Given the description of an element on the screen output the (x, y) to click on. 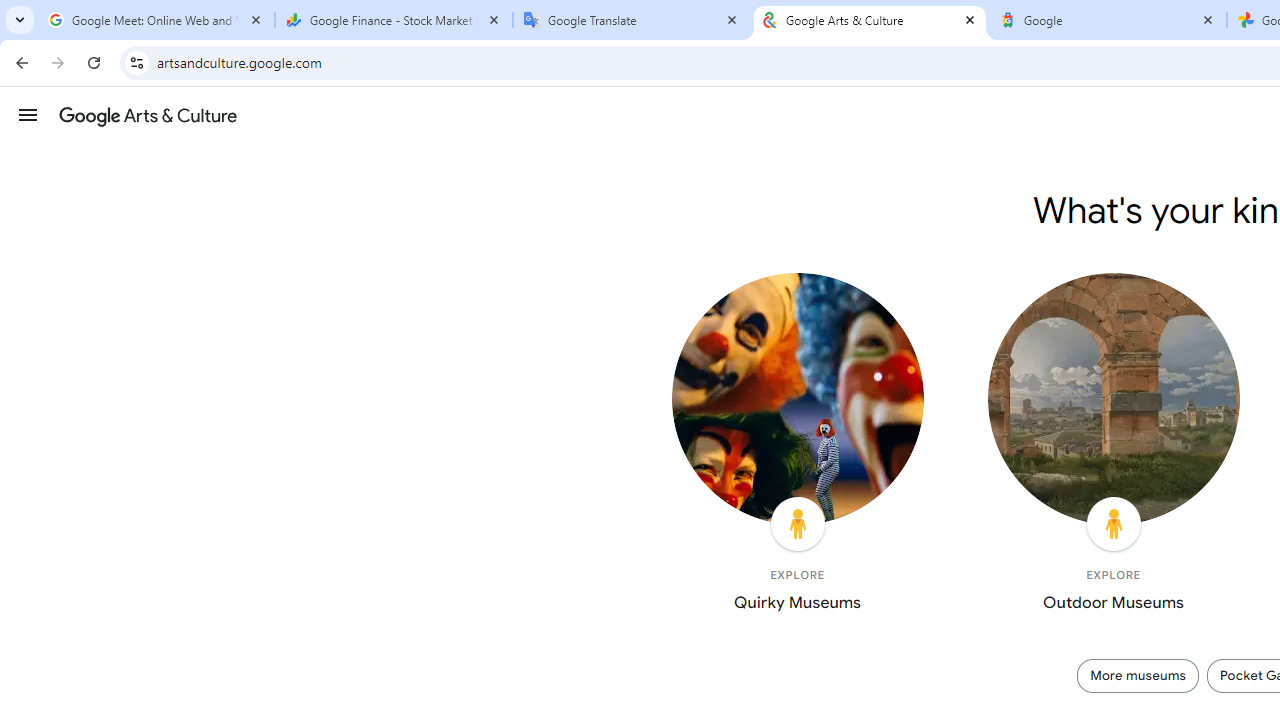
Google Translate (632, 20)
Google (1108, 20)
Google Arts & Culture (870, 20)
